Given the description of an element on the screen output the (x, y) to click on. 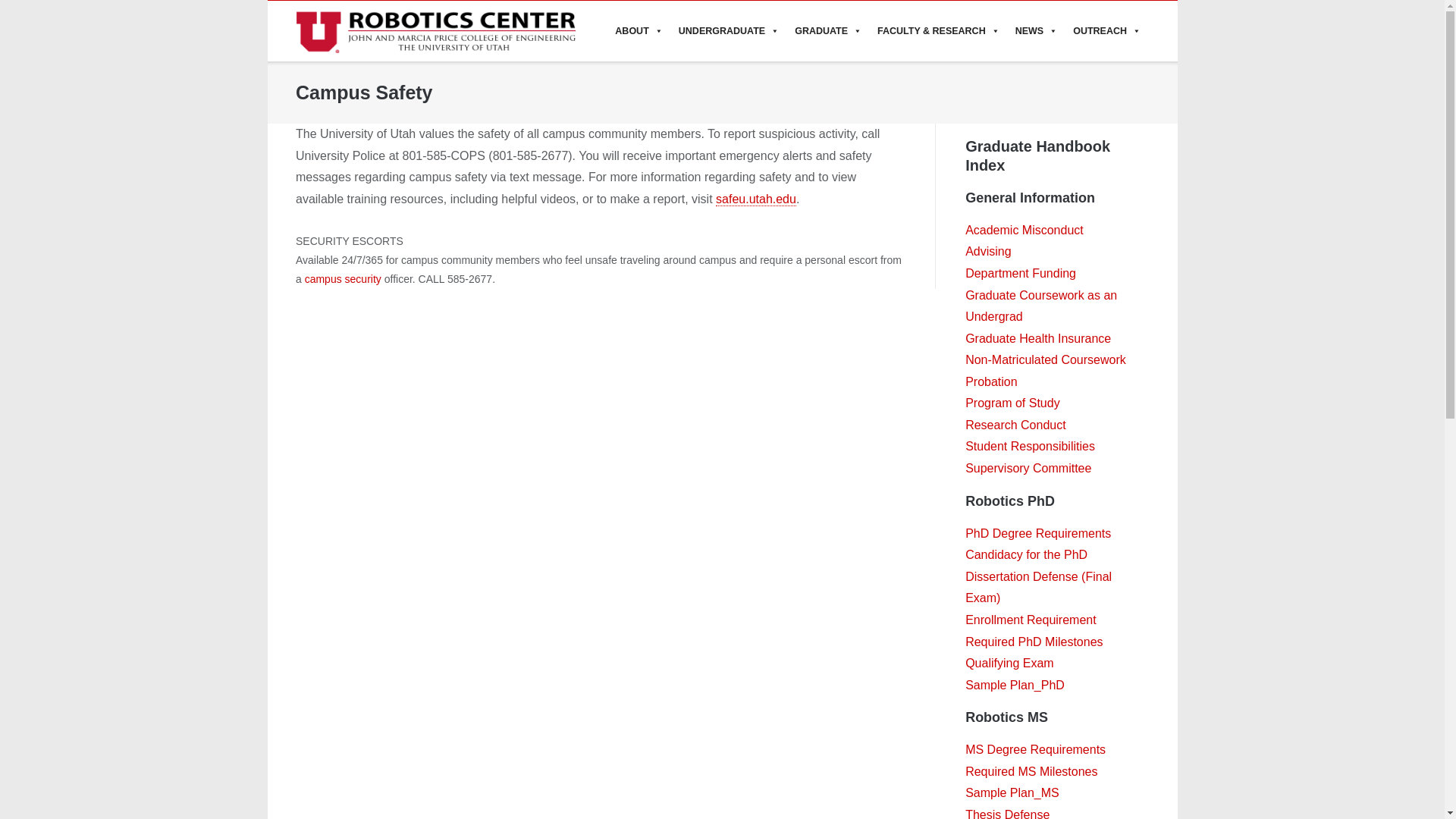
ABOUT (638, 30)
UNDERGRADUATE (729, 30)
GRADUATE (828, 30)
